Given the description of an element on the screen output the (x, y) to click on. 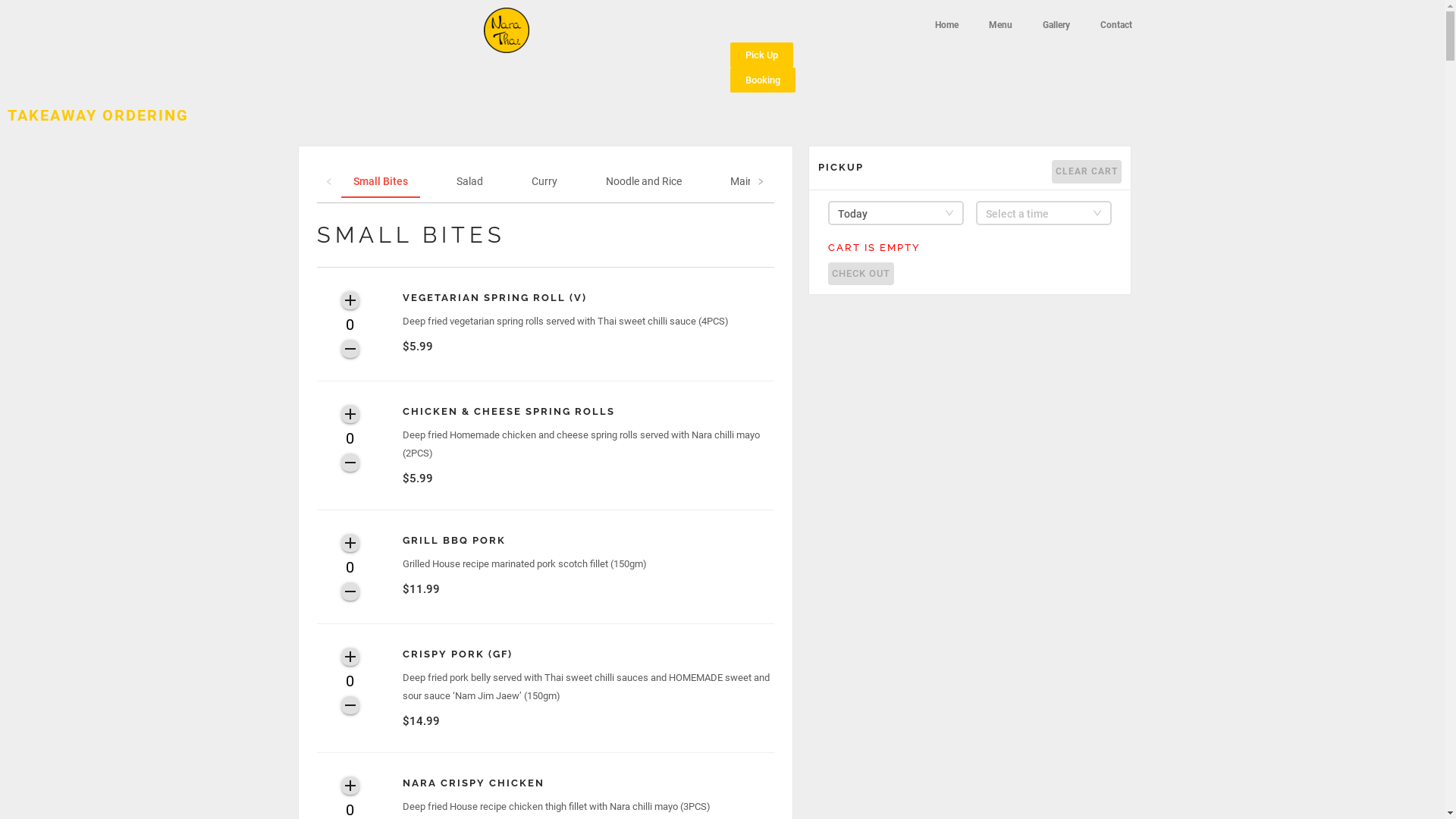
Booking Element type: text (761, 79)
Pick Up Element type: text (760, 54)
CHECK OUT Element type: text (861, 273)
Gallery Element type: text (1055, 24)
CLEAR CART Element type: text (1086, 171)
Contact Element type: text (1115, 24)
Home Element type: text (945, 24)
Menu Element type: text (1000, 24)
NaraLogo Element type: hover (506, 30)
